Given the description of an element on the screen output the (x, y) to click on. 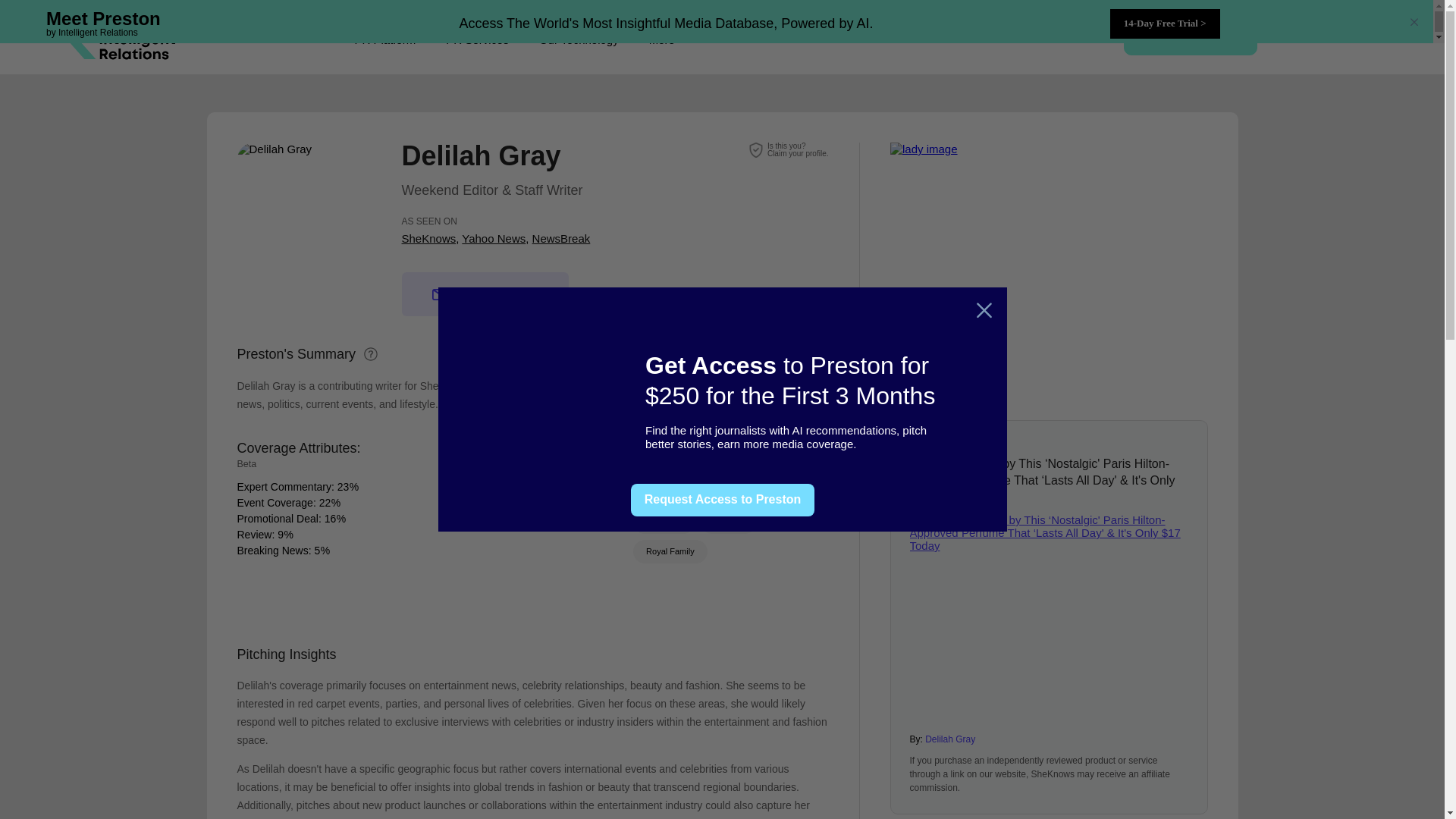
PR Platform (385, 39)
Get in Touch (485, 293)
Yahoo News (493, 237)
Log In (1317, 36)
Book a Demo (1190, 35)
SheKnows (429, 237)
Embedded CTA (1048, 256)
Our Technology (578, 39)
16 (330, 518)
Popup CTA (797, 149)
22 (662, 39)
23 (324, 502)
NewsBreak (343, 486)
